Given the description of an element on the screen output the (x, y) to click on. 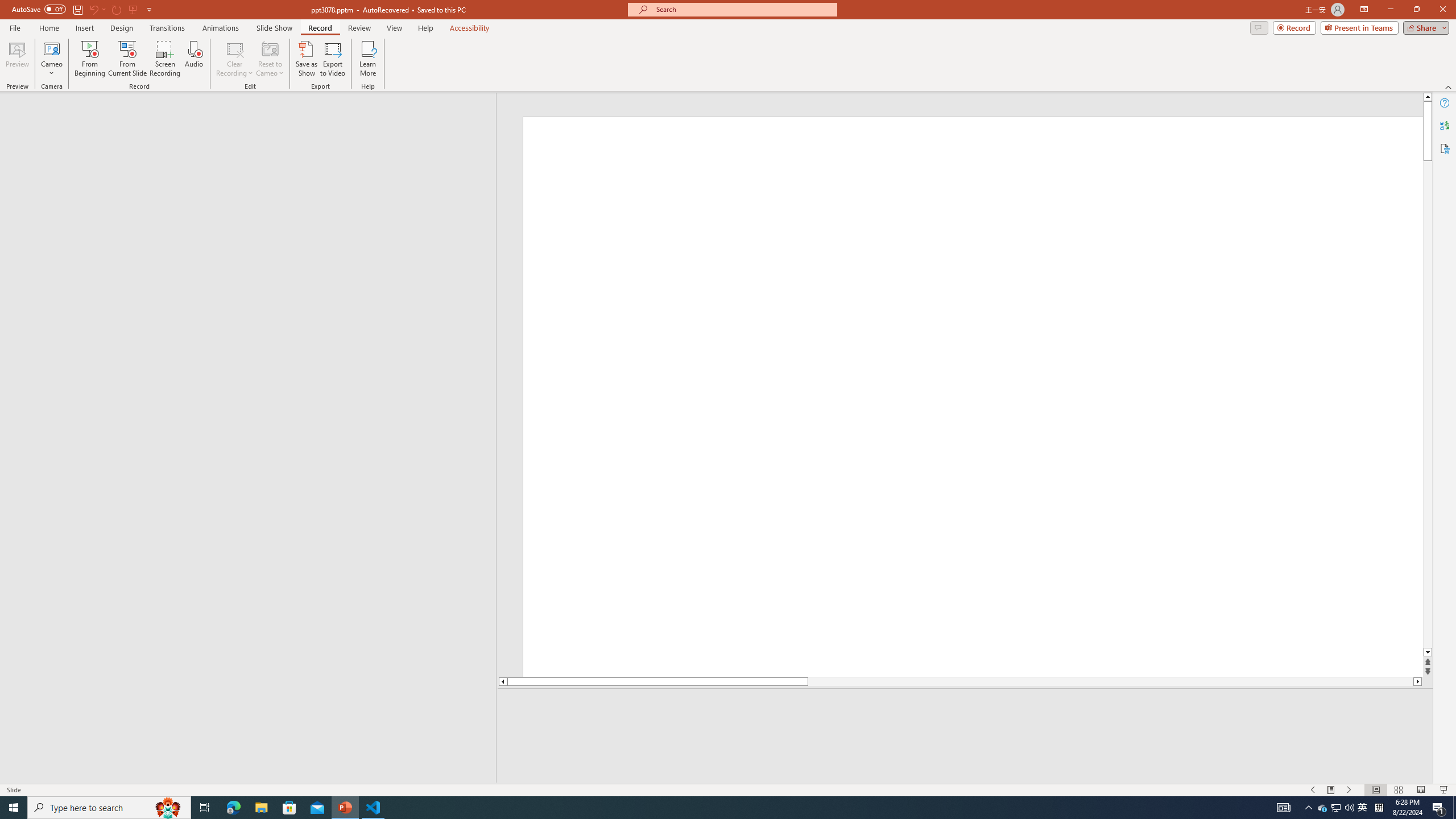
Reset to Cameo (269, 58)
Learn More (368, 58)
